Given the description of an element on the screen output the (x, y) to click on. 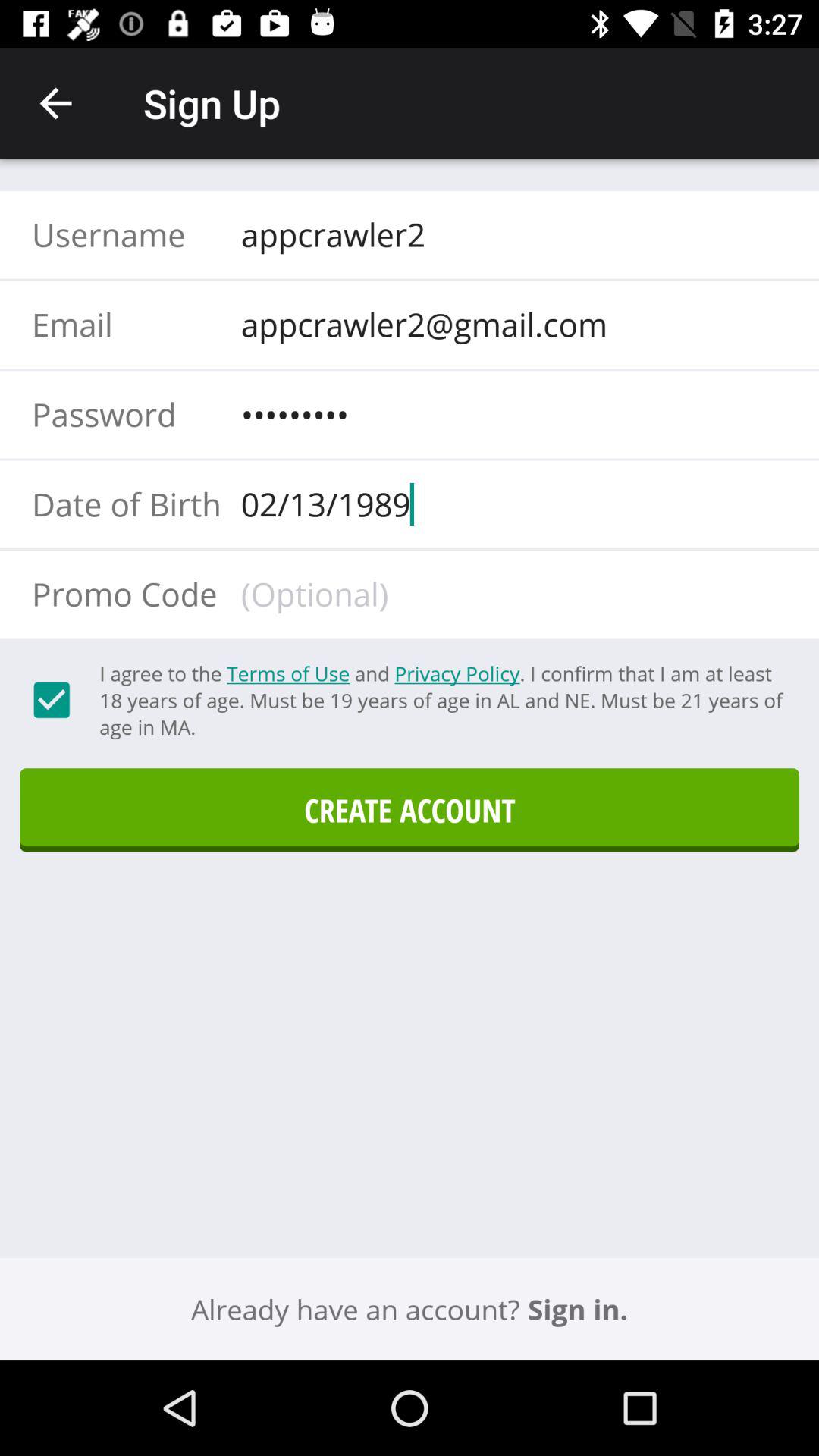
turn off icon above the sign in. (409, 809)
